Given the description of an element on the screen output the (x, y) to click on. 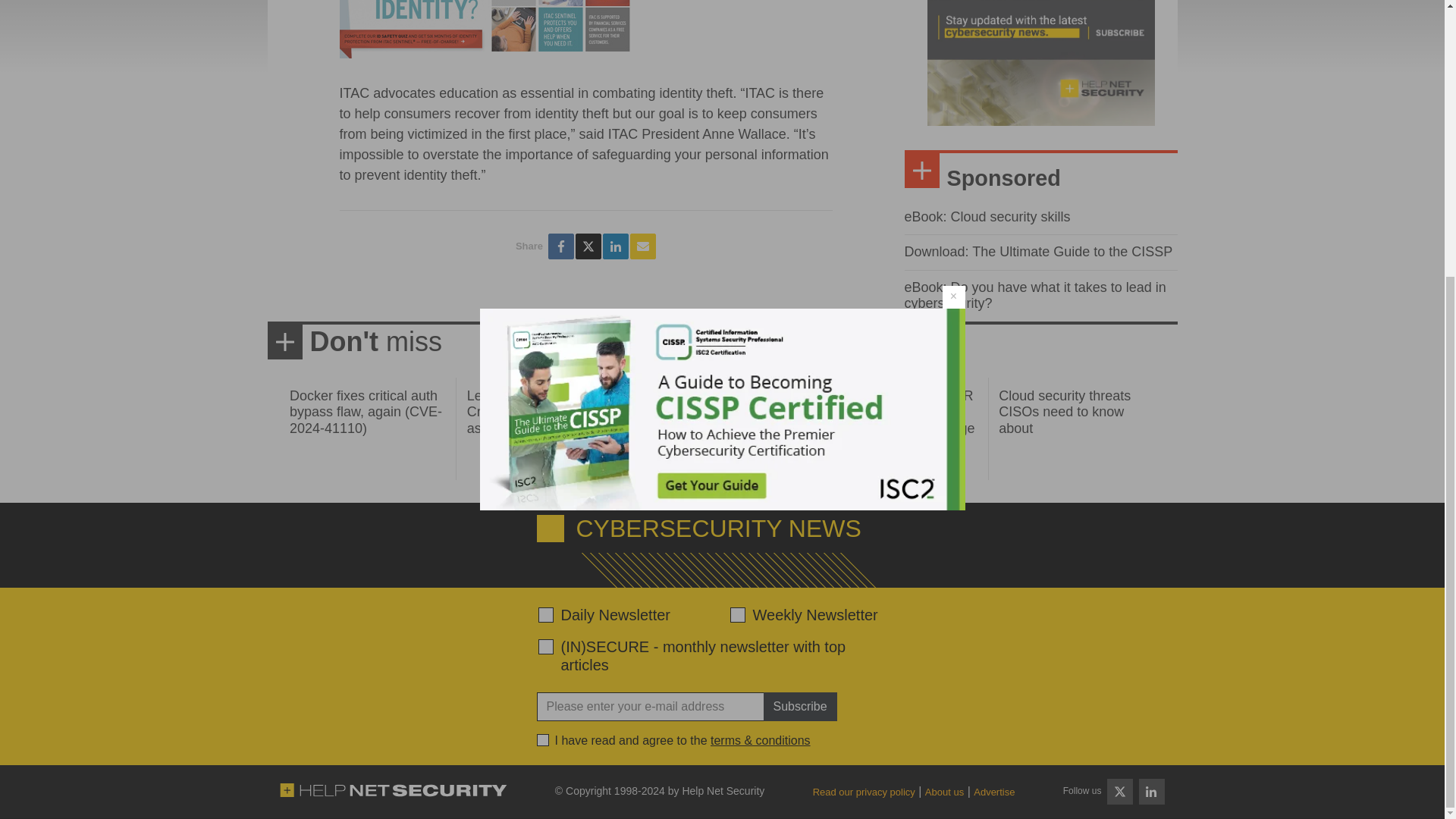
520ac2f639 (545, 614)
eBook: Do you have what it takes to lead in cybersecurity? (1035, 296)
Share Identity theft prevention quiz from ITAC via E-mail (643, 246)
Cloud security threats CISOs need to know about (1064, 411)
Share Identity theft prevention quiz from ITAC on Twitter (588, 246)
Share Identity theft prevention quiz from ITAC on Facebook (560, 246)
1 (542, 739)
Share Identity theft prevention quiz from ITAC on LinkedIn (615, 246)
28abe5d9ef (545, 646)
eBook: Cloud security skills (987, 216)
Download: The Ultimate Guide to the CISSP (1038, 251)
Download: The Ultimate Guide to the CISSP (1038, 251)
Subscribe (798, 706)
